Given the description of an element on the screen output the (x, y) to click on. 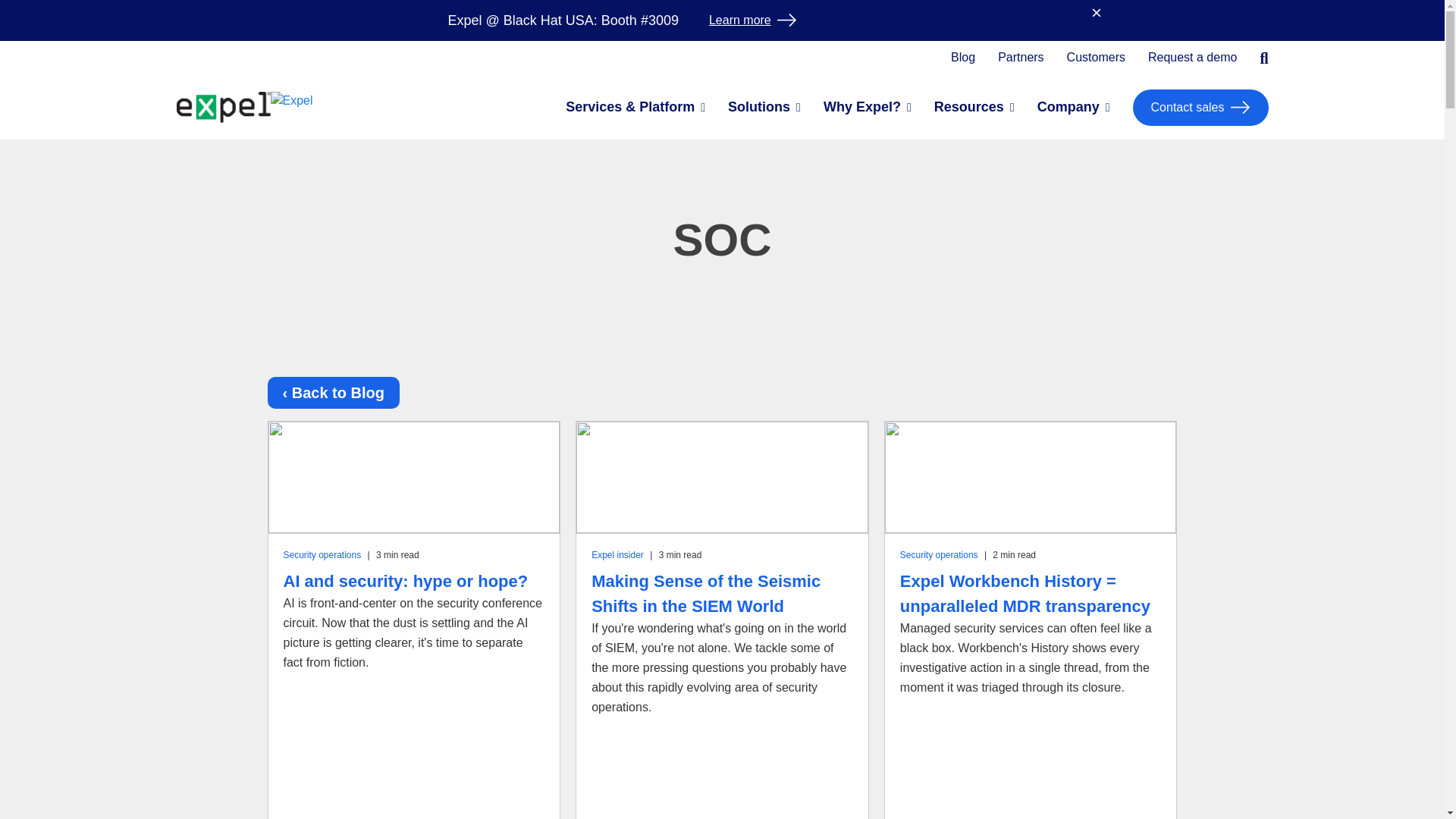
Request a demo (1192, 57)
Why Expel? (862, 107)
Solutions (759, 107)
Partners (1020, 57)
Learn more (752, 19)
Blog (962, 57)
Resources (969, 107)
Customers (1096, 57)
